Given the description of an element on the screen output the (x, y) to click on. 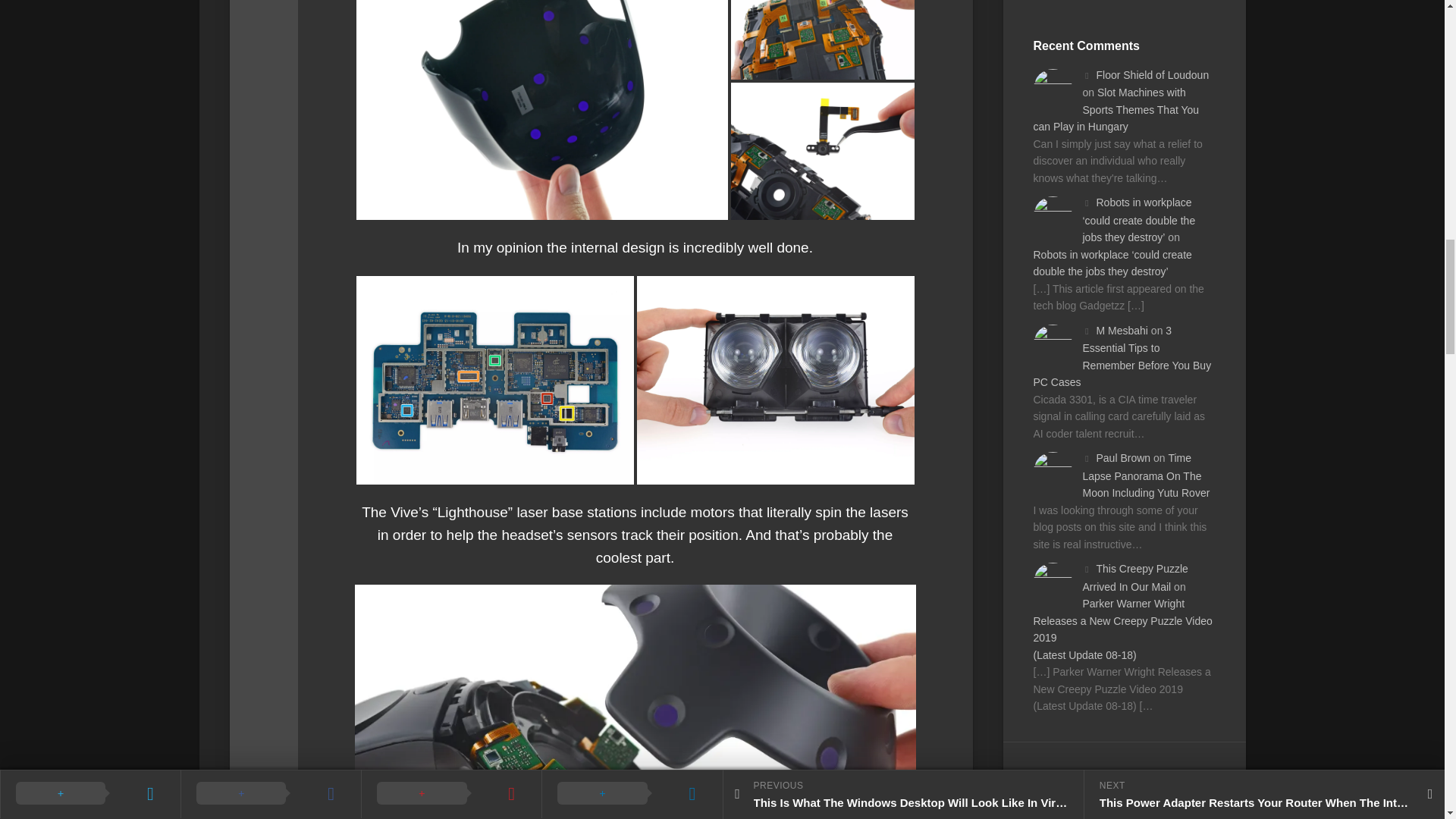
iyeHD11EAdUaCU1j (822, 151)
O5ZYbeKZKAREtbcZ (775, 380)
TsXMDAUnDBS6VSLQ (822, 39)
kNXevCeYBuDdUo4D (542, 110)
